Given the description of an element on the screen output the (x, y) to click on. 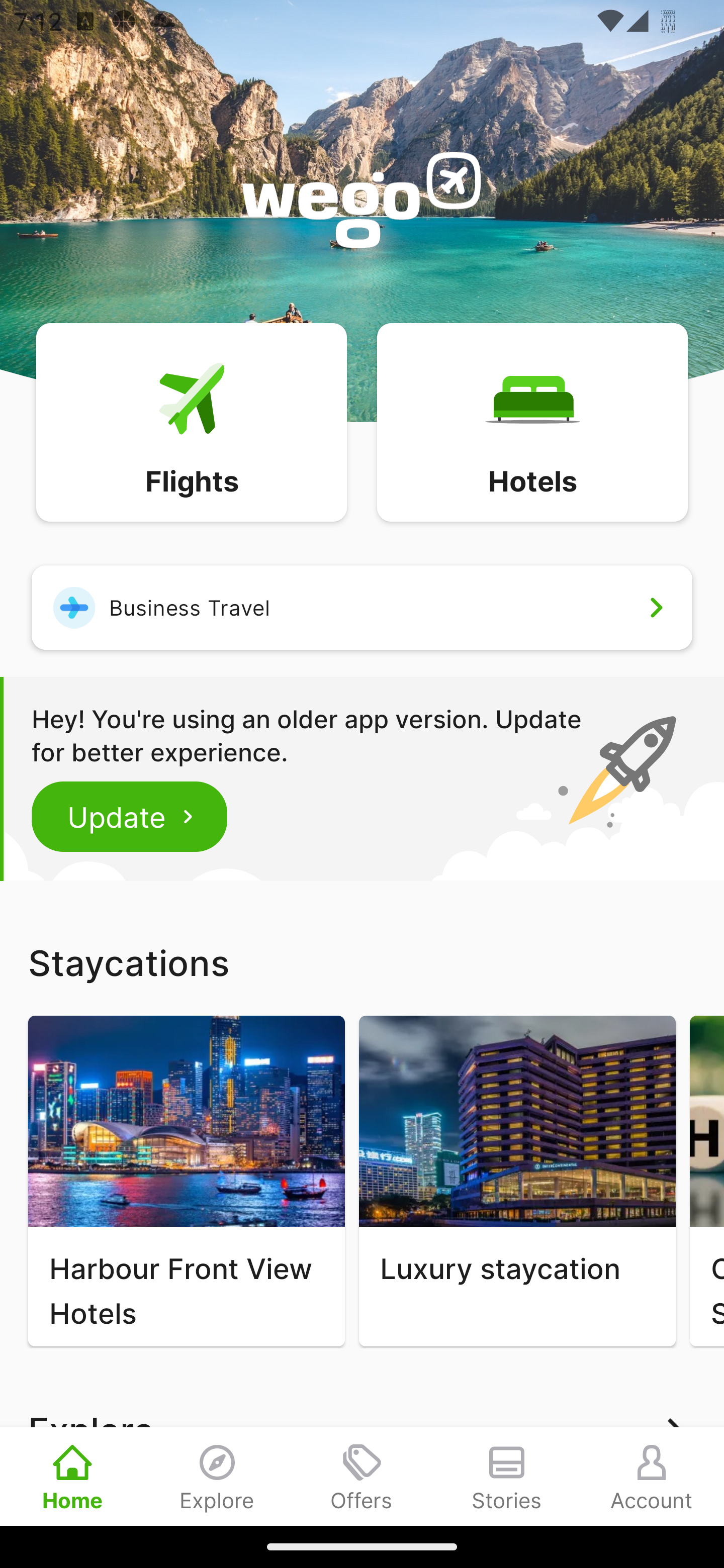
Flights (191, 420)
Hotels (532, 420)
Business Travel (361, 607)
Update (129, 815)
Staycations (362, 962)
Harbour Front View Hotels (186, 1181)
Luxury staycation (517, 1181)
Explore (216, 1475)
Offers (361, 1475)
Stories (506, 1475)
Account (651, 1475)
